Given the description of an element on the screen output the (x, y) to click on. 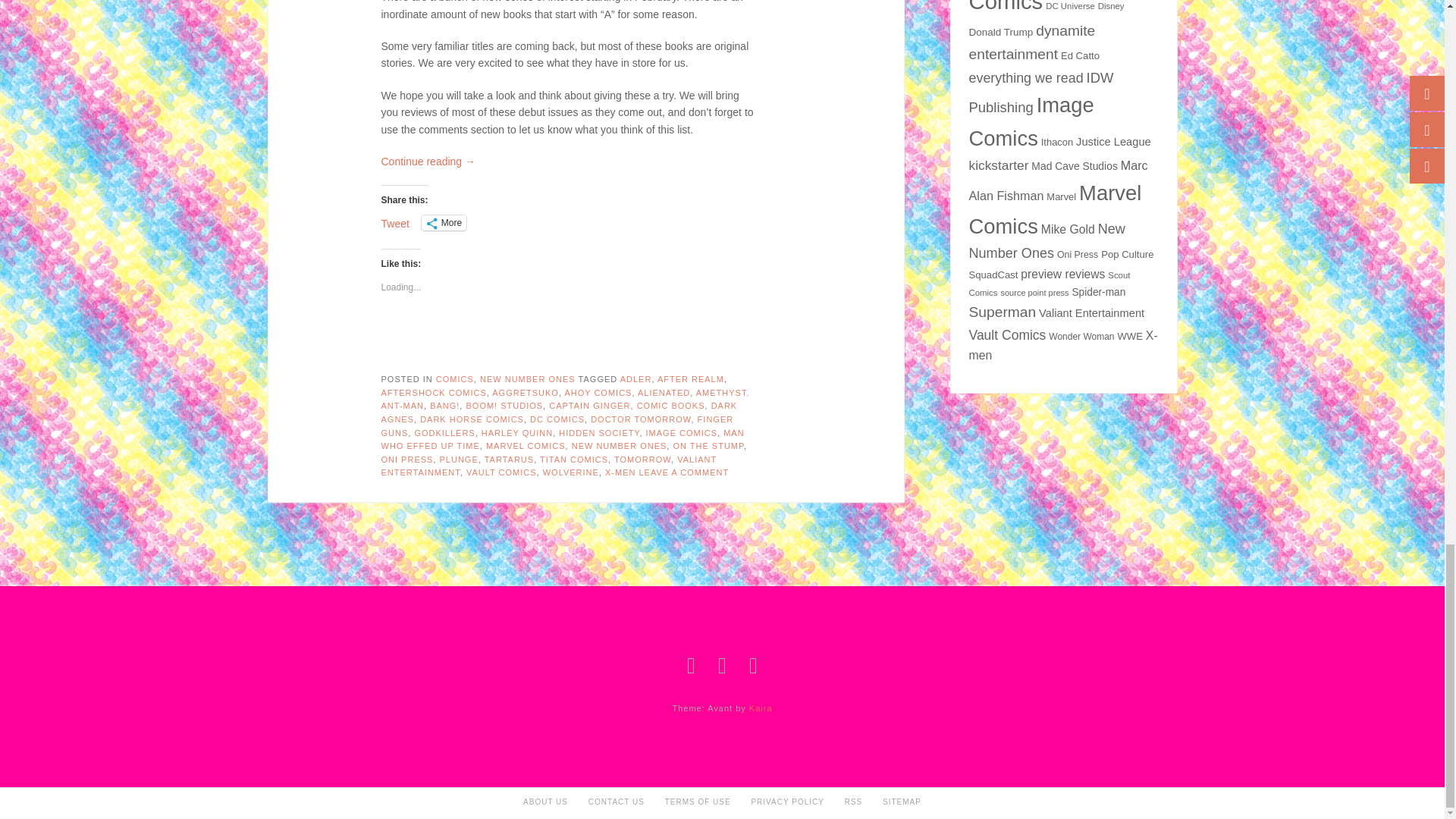
Like or Reblog (568, 340)
